Given the description of an element on the screen output the (x, y) to click on. 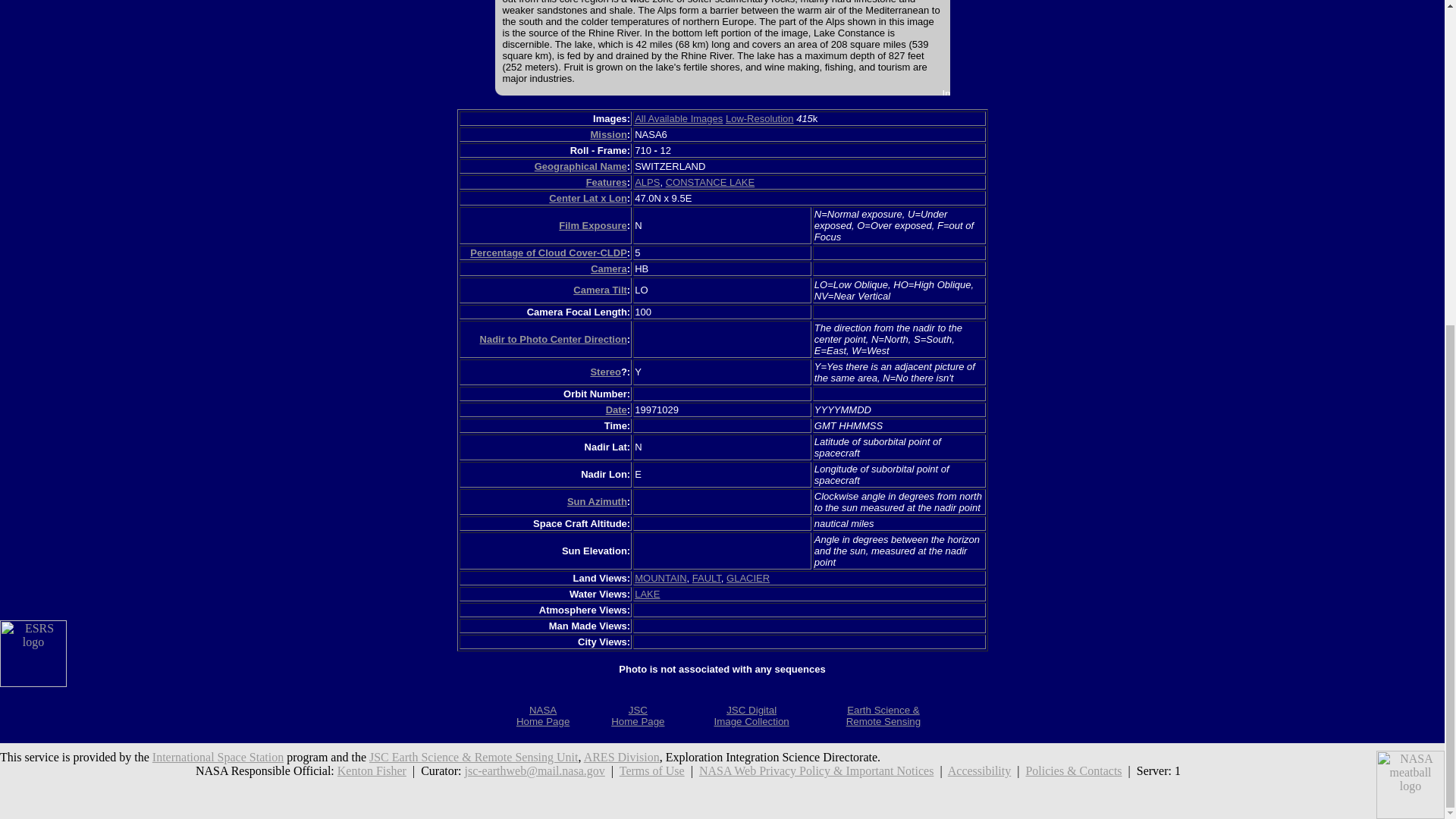
Camera (609, 268)
Search for other records with "MOUNTAIN". (659, 577)
Camera Tilt (600, 289)
LAKE (646, 593)
Mission (607, 134)
Features (606, 182)
Film Exposure (593, 225)
Date (616, 409)
Search for other records with "FAULT". (706, 577)
Search for other records with "LAKE". (646, 593)
